Given the description of an element on the screen output the (x, y) to click on. 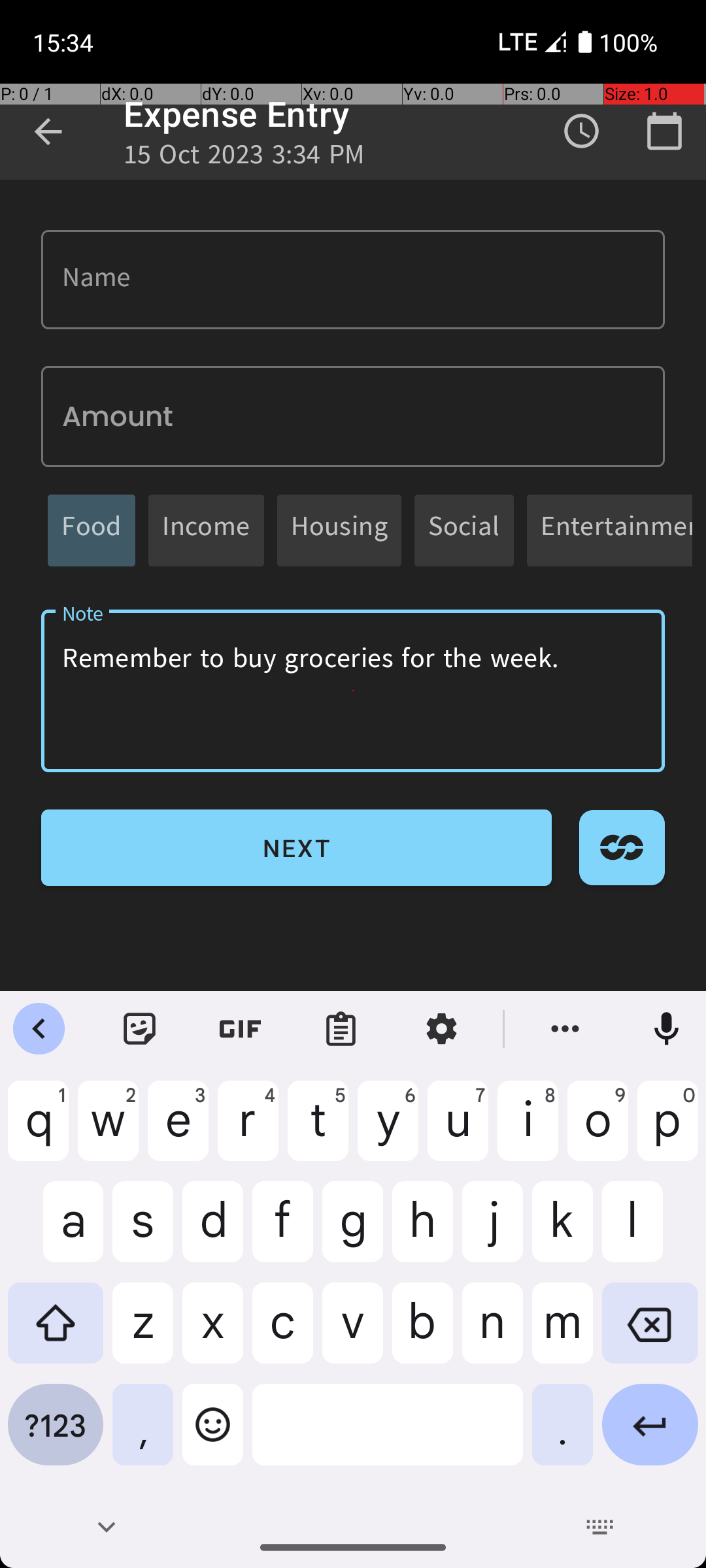
Remember to buy groceries for the week.
 Element type: android.widget.EditText (352, 690)
NEXT Element type: android.widget.Button (296, 847)
